Given the description of an element on the screen output the (x, y) to click on. 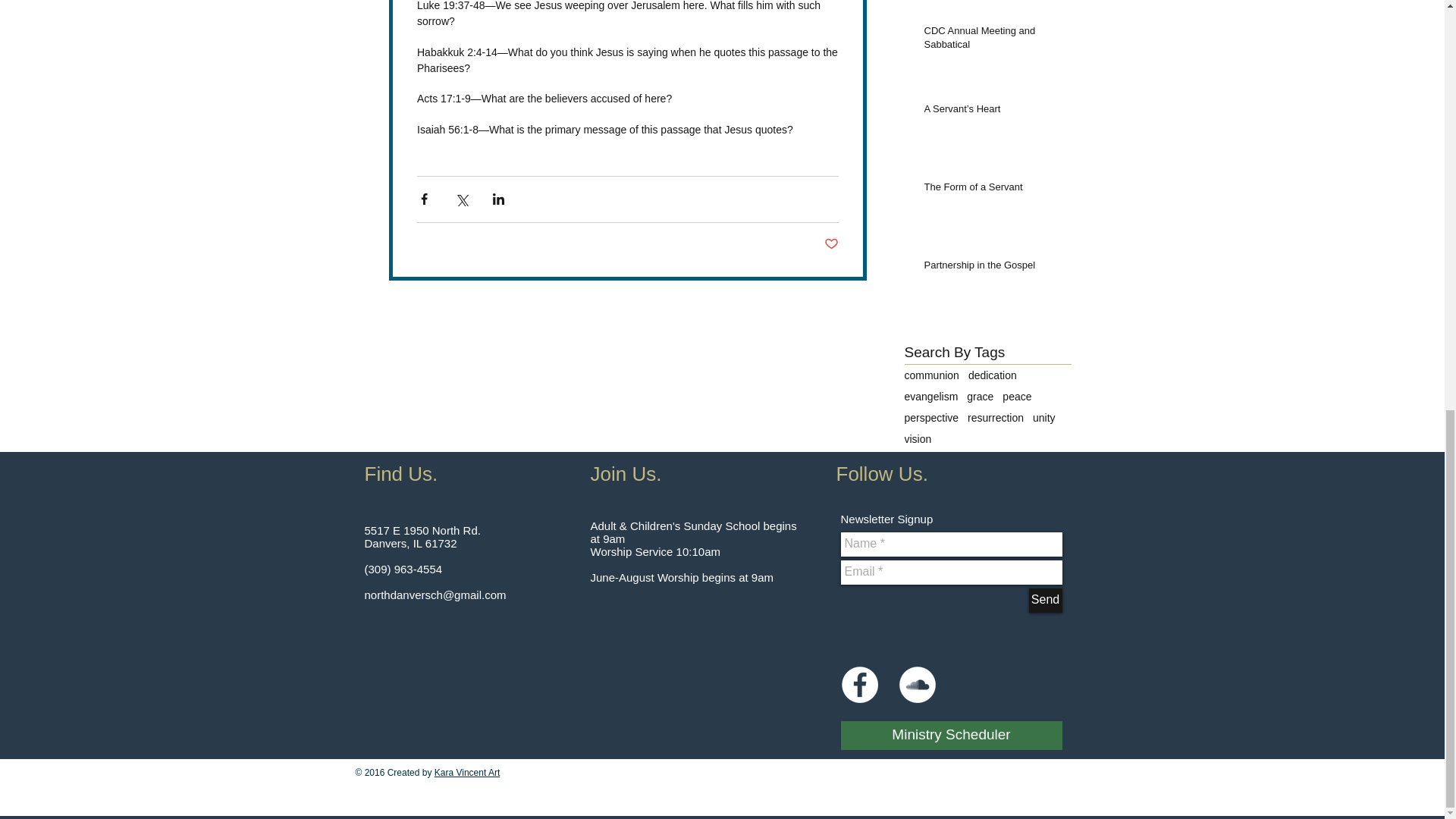
peace (1016, 396)
CDC Annual Meeting and Sabbatical (992, 40)
resurrection (995, 417)
communion (931, 375)
Post not marked as liked (831, 244)
grace (979, 396)
dedication (992, 375)
vision (917, 439)
Kara Vincent Art (466, 772)
Send (1044, 600)
